Given the description of an element on the screen output the (x, y) to click on. 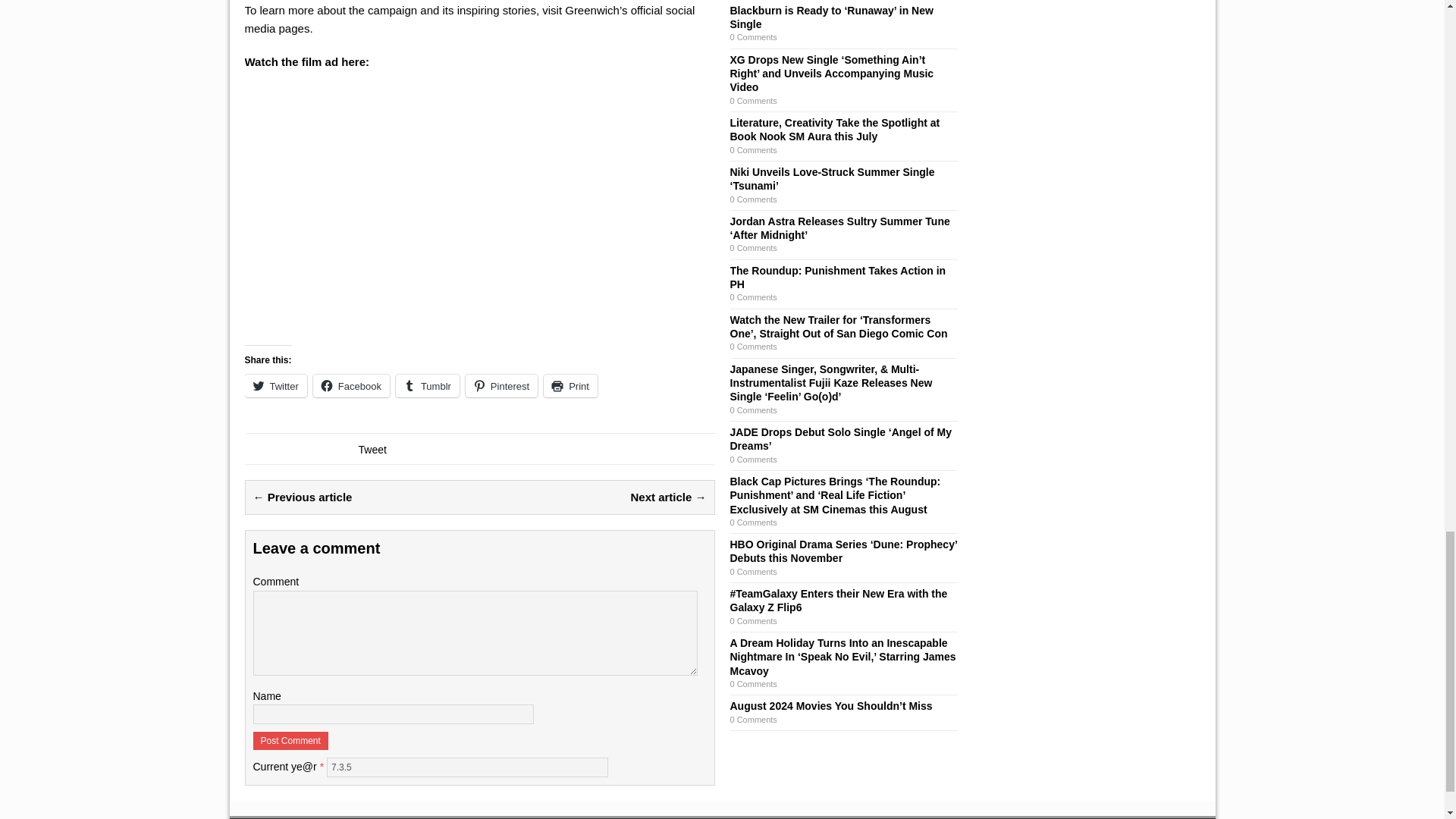
Twitter (274, 385)
Click to print (569, 385)
Click to share on Tumblr (428, 385)
Print (569, 385)
Post Comment (291, 741)
Tweet (371, 449)
7.3.5 (467, 767)
Click to share on Pinterest (501, 385)
Click to share on Facebook (351, 385)
Pinterest (501, 385)
Tumblr (428, 385)
Post Comment (291, 741)
Facebook (351, 385)
Click to share on Twitter (274, 385)
